Given the description of an element on the screen output the (x, y) to click on. 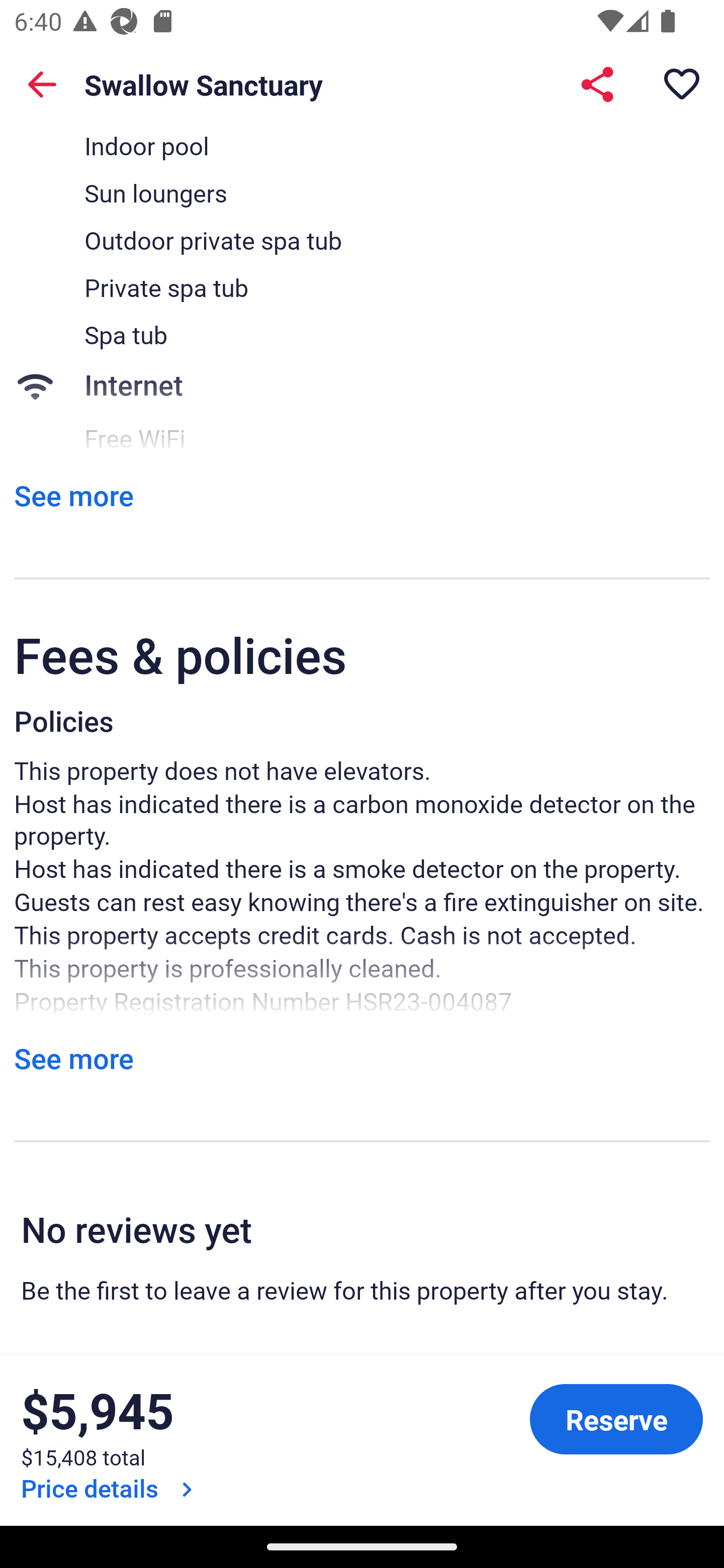
Back (42, 84)
Save property to a trip (681, 84)
Share Swallow Sanctuary (597, 84)
See more See all property amenities Link (73, 495)
See more See more policies Link (73, 1058)
